Given the description of an element on the screen output the (x, y) to click on. 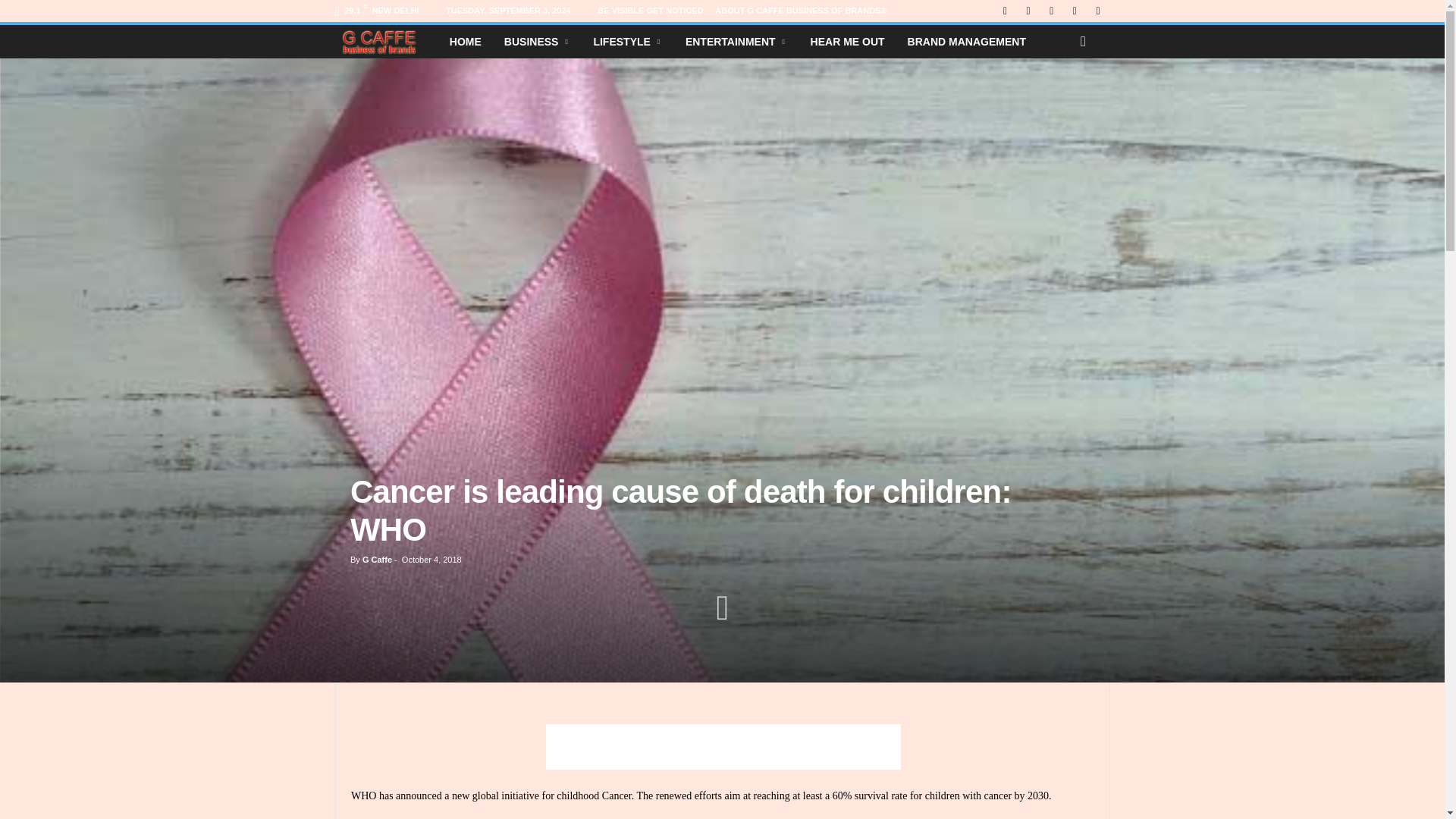
HOME (465, 41)
BE VISIBLE GET NOTICED (649, 10)
G Caffe (386, 41)
BUSINESS (537, 41)
